Given the description of an element on the screen output the (x, y) to click on. 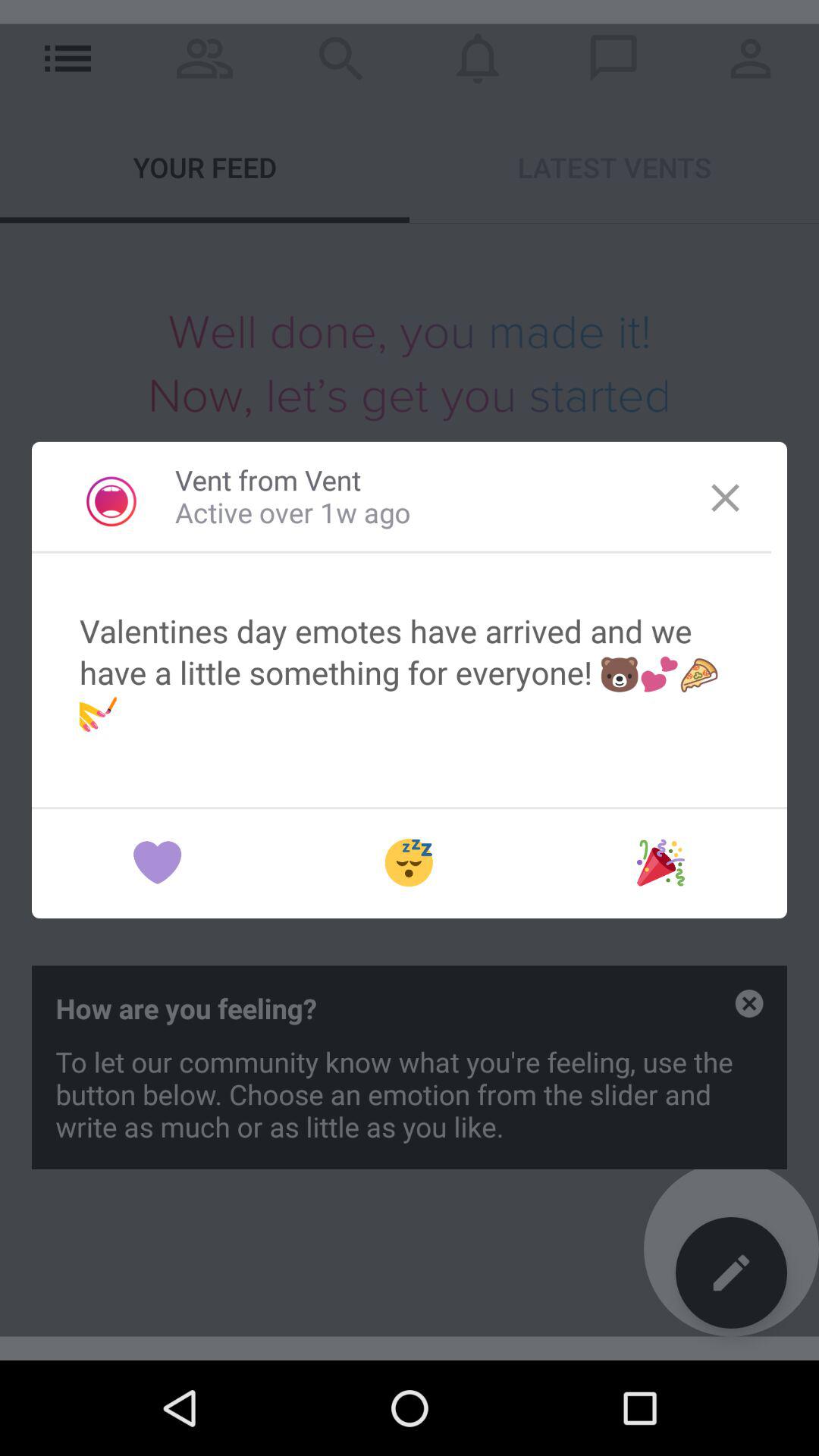
click the valentines day emotes item (409, 672)
